Given the description of an element on the screen output the (x, y) to click on. 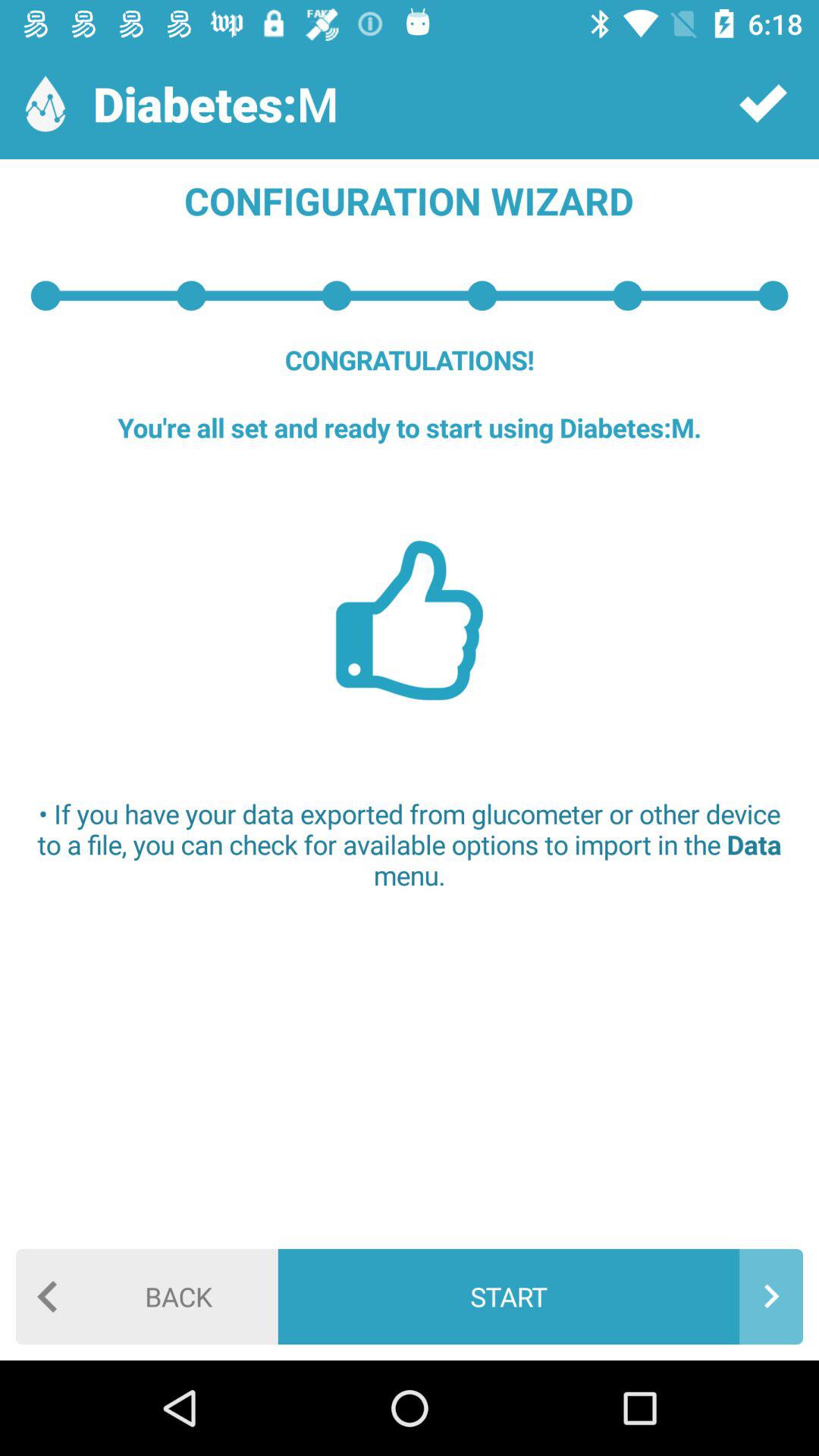
press the item below the if you have item (146, 1296)
